Given the description of an element on the screen output the (x, y) to click on. 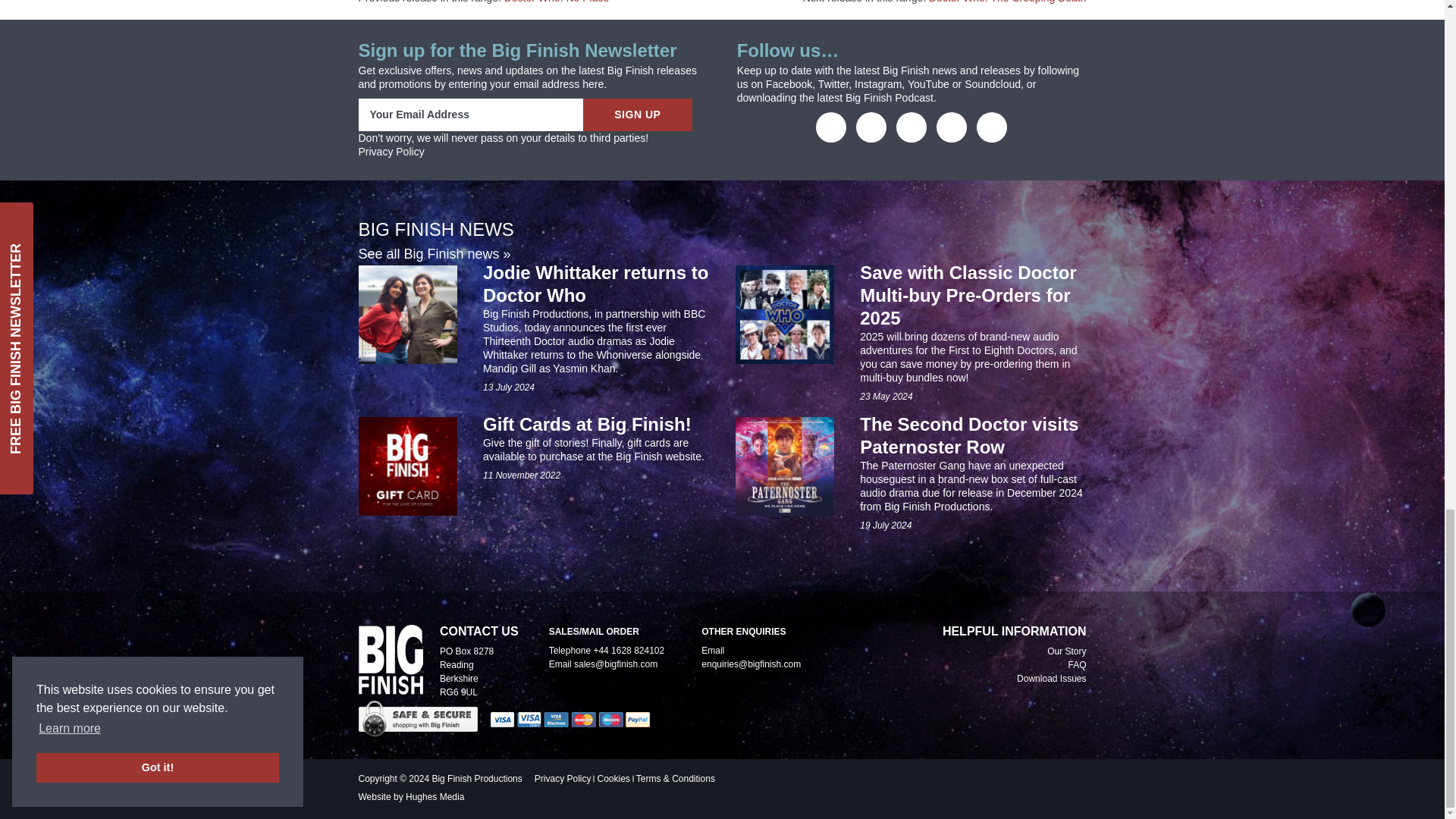
Sign Up (637, 114)
